Given the description of an element on the screen output the (x, y) to click on. 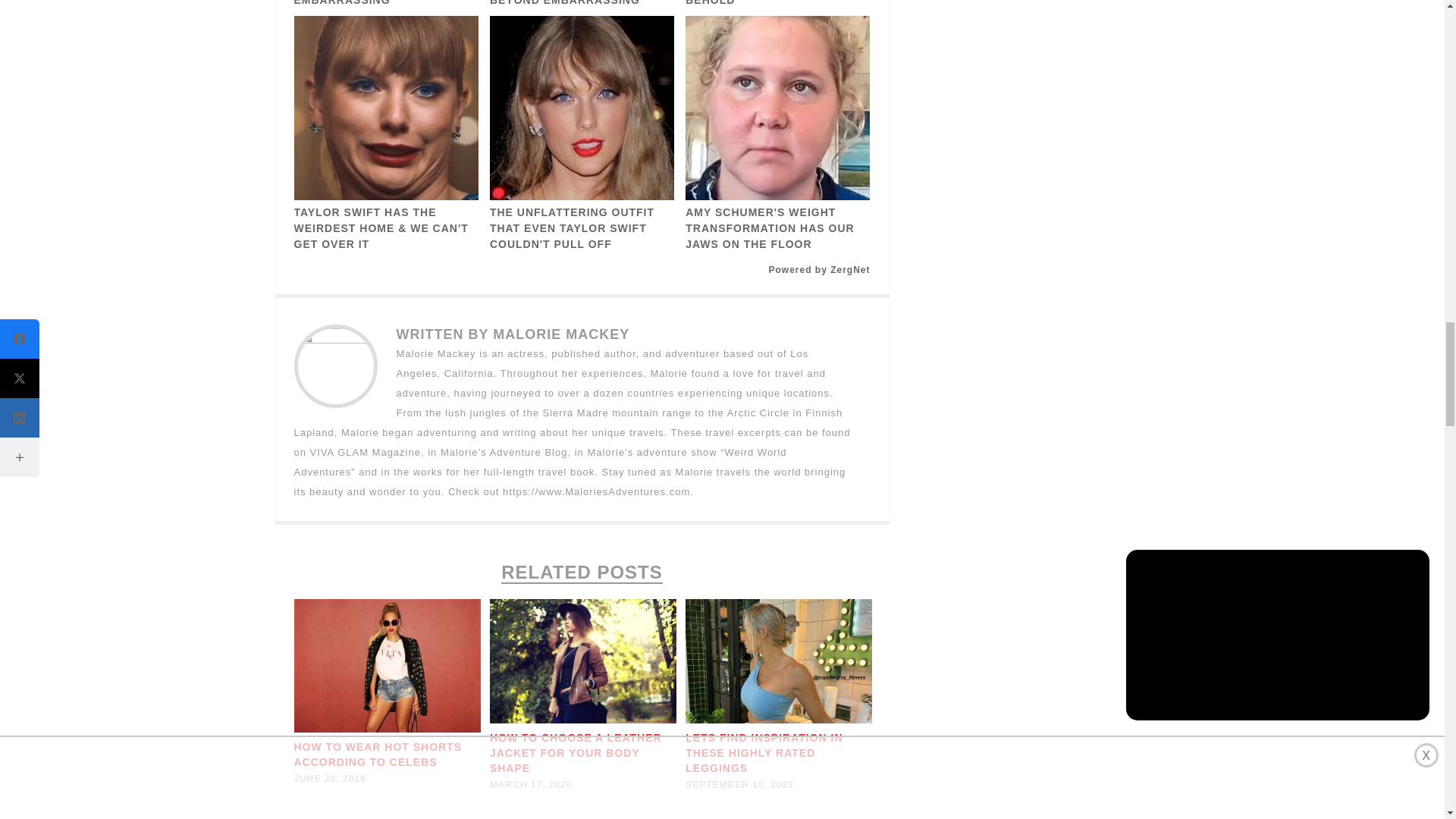
Permanent Link to How to Wear Hot Shorts According to Celebs (378, 754)
Permanent Link to How to Wear Hot Shorts According to Celebs (387, 728)
